Given the description of an element on the screen output the (x, y) to click on. 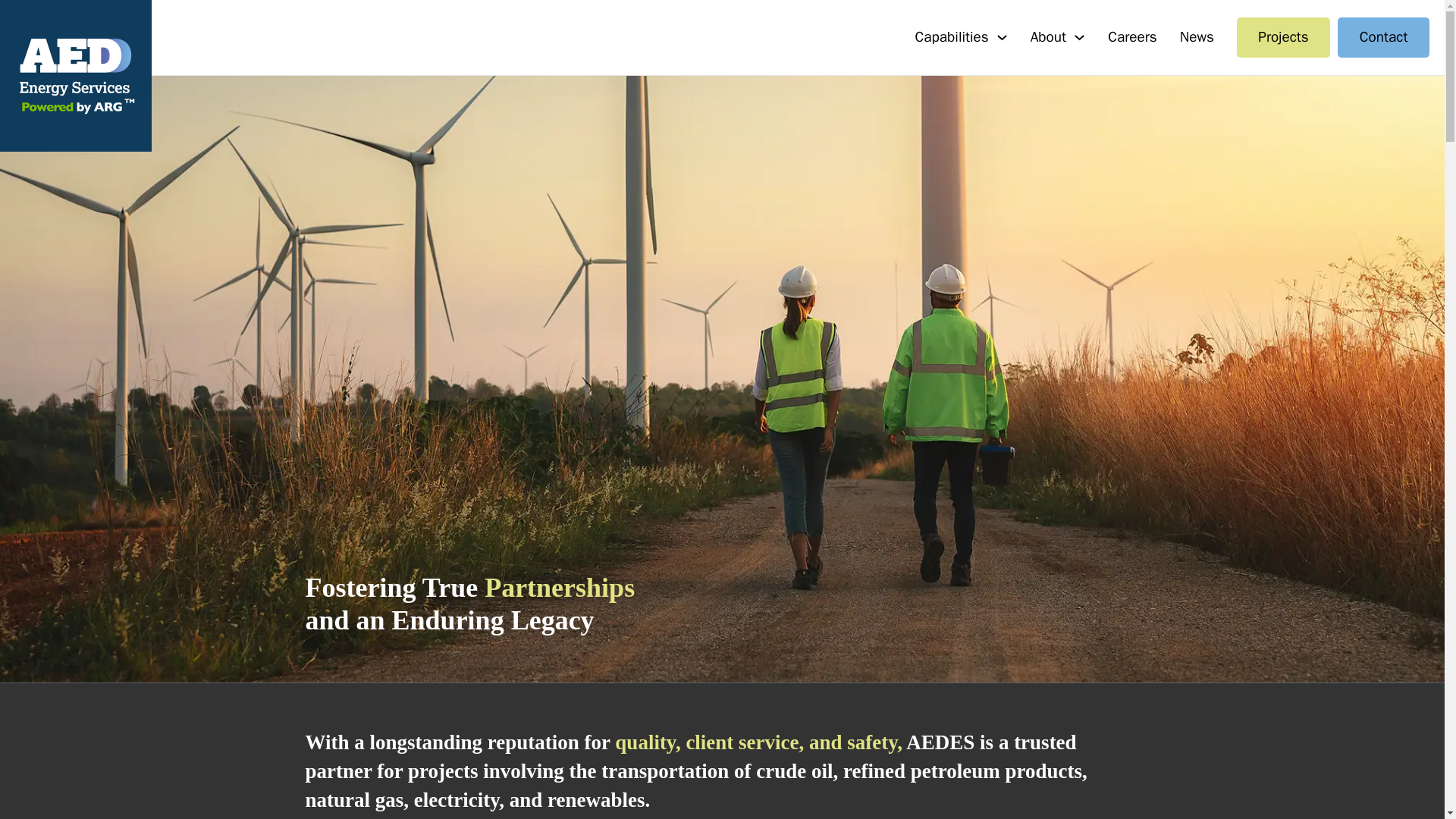
Careers (1132, 37)
Projects (1283, 36)
Capabilities (951, 37)
News (1196, 37)
Contact (1383, 36)
About (1047, 37)
